Given the description of an element on the screen output the (x, y) to click on. 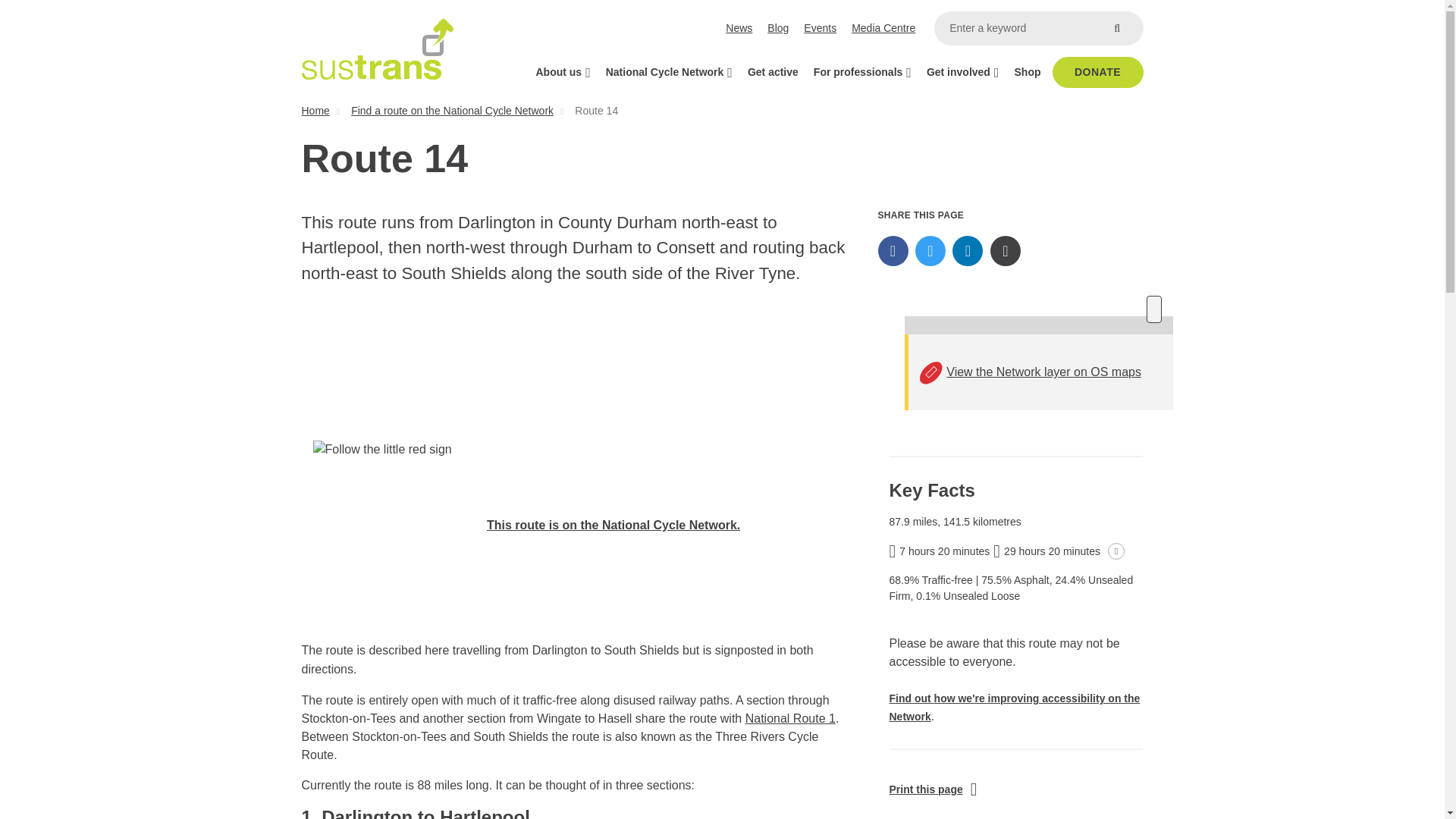
Route 1 (790, 717)
National Cycle Network (668, 71)
Blog (778, 28)
SEARCH (1116, 28)
Events (820, 28)
Media Centre (883, 28)
News (738, 28)
For professionals (862, 71)
About us (561, 71)
